Given the description of an element on the screen output the (x, y) to click on. 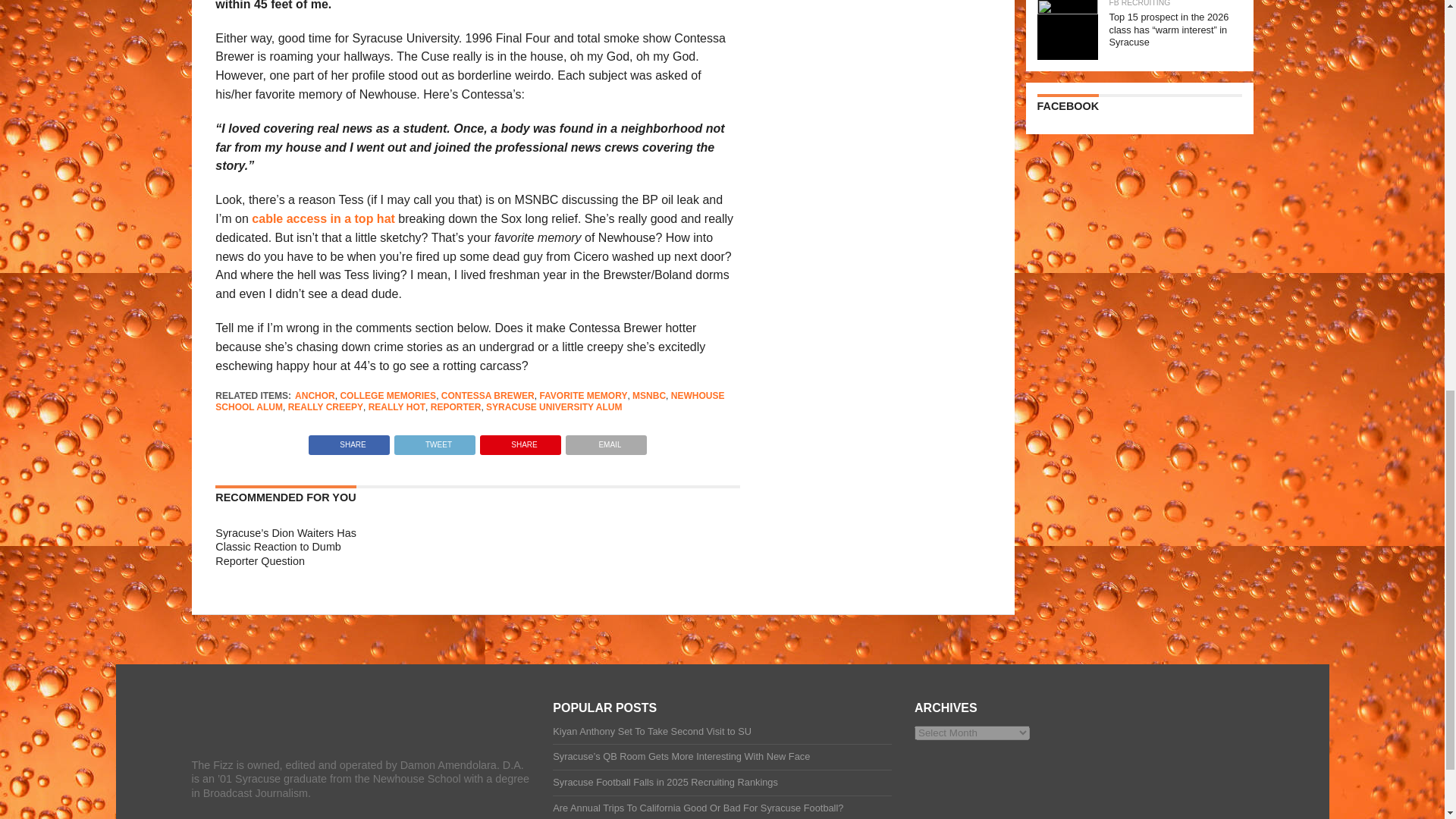
Share on Facebook (349, 440)
Pin This Post (520, 440)
Tweet This Post (434, 440)
